Given the description of an element on the screen output the (x, y) to click on. 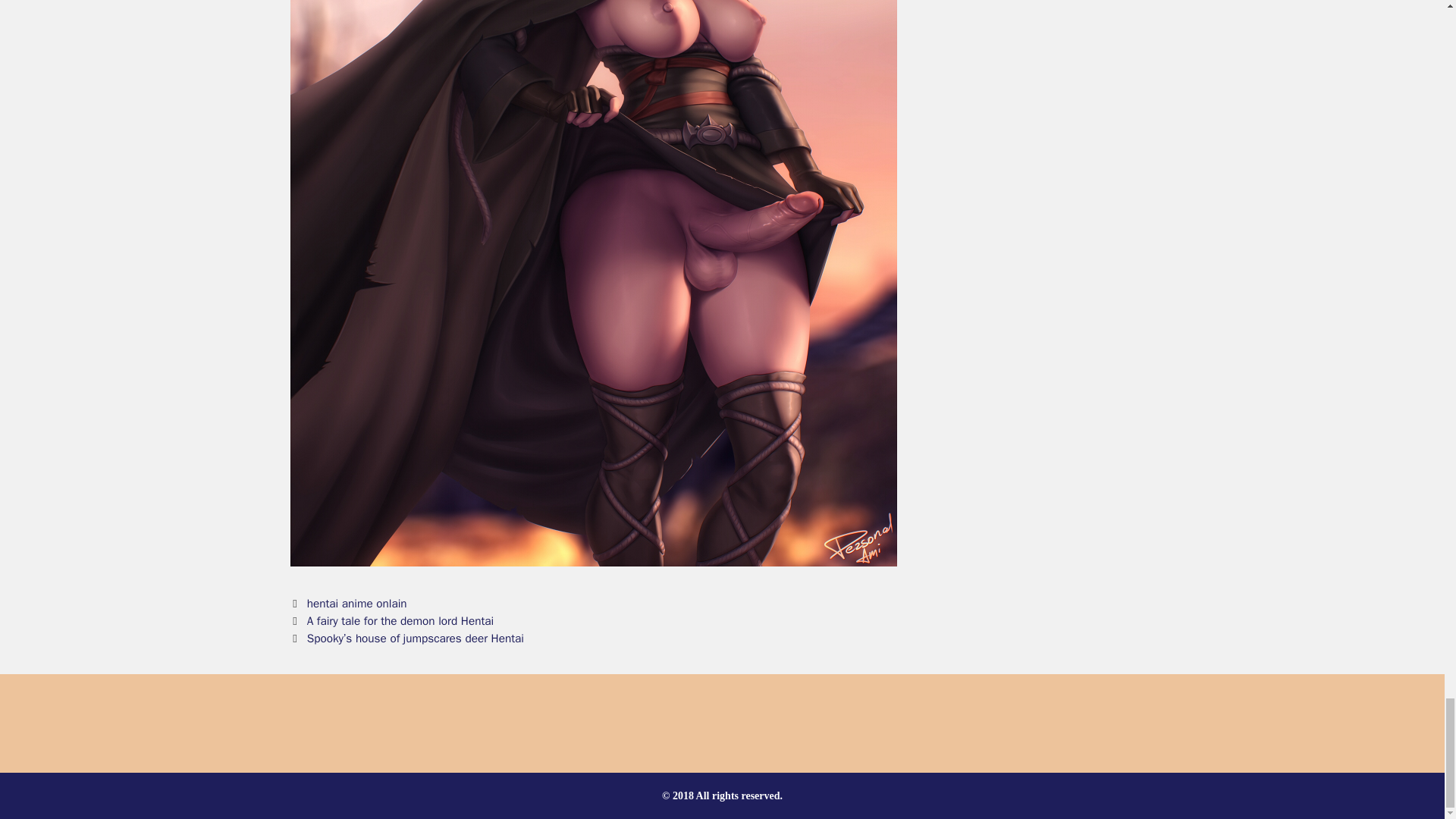
Previous (391, 620)
hentai anime onlain (357, 603)
A fairy tale for the demon lord Hentai (401, 620)
Next (405, 638)
